Given the description of an element on the screen output the (x, y) to click on. 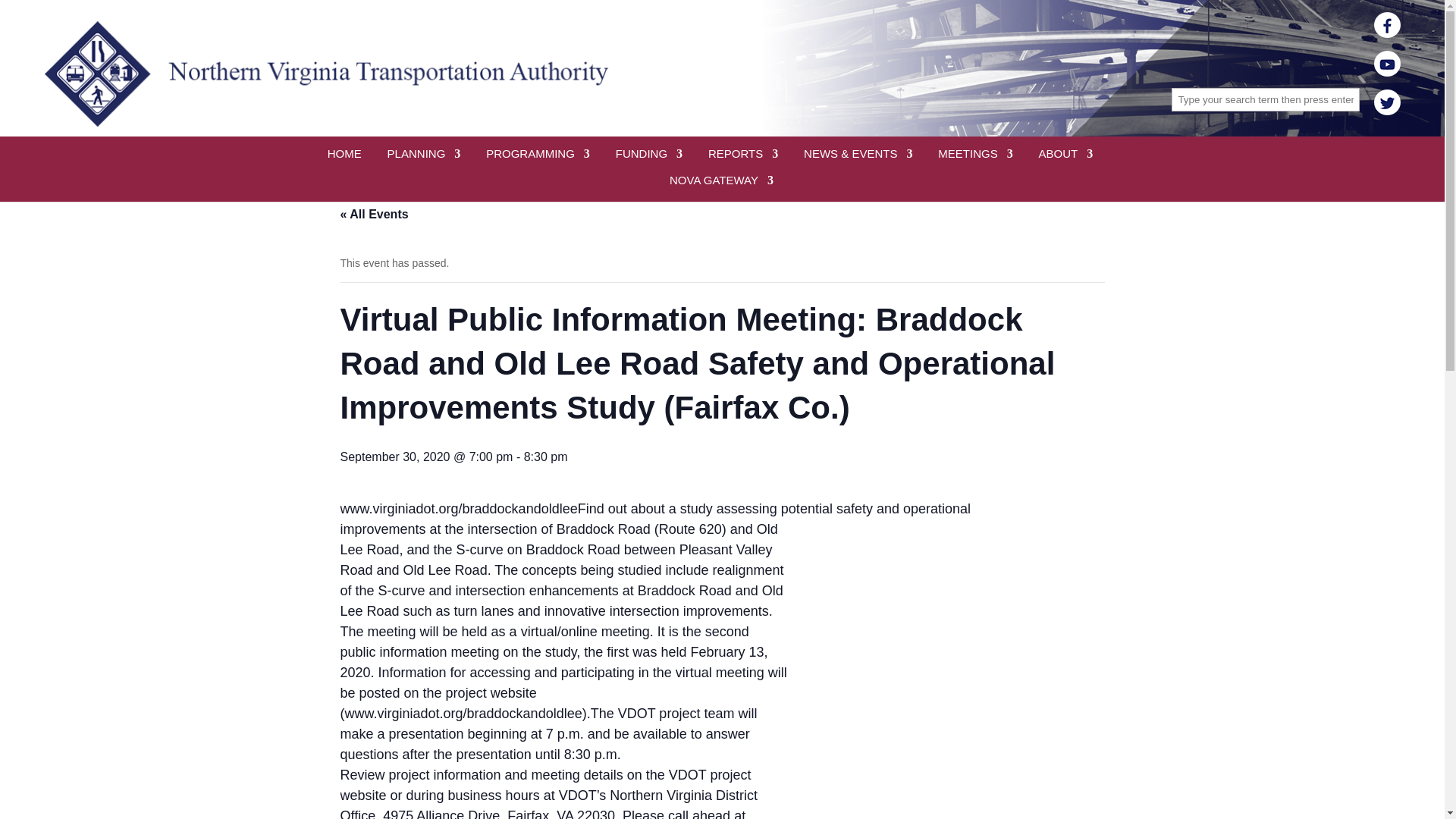
PLANNING (424, 161)
REPORTS (742, 161)
PROGRAMMING (537, 161)
Search (21, 7)
FUNDING (648, 161)
HOME (344, 161)
